Given the description of an element on the screen output the (x, y) to click on. 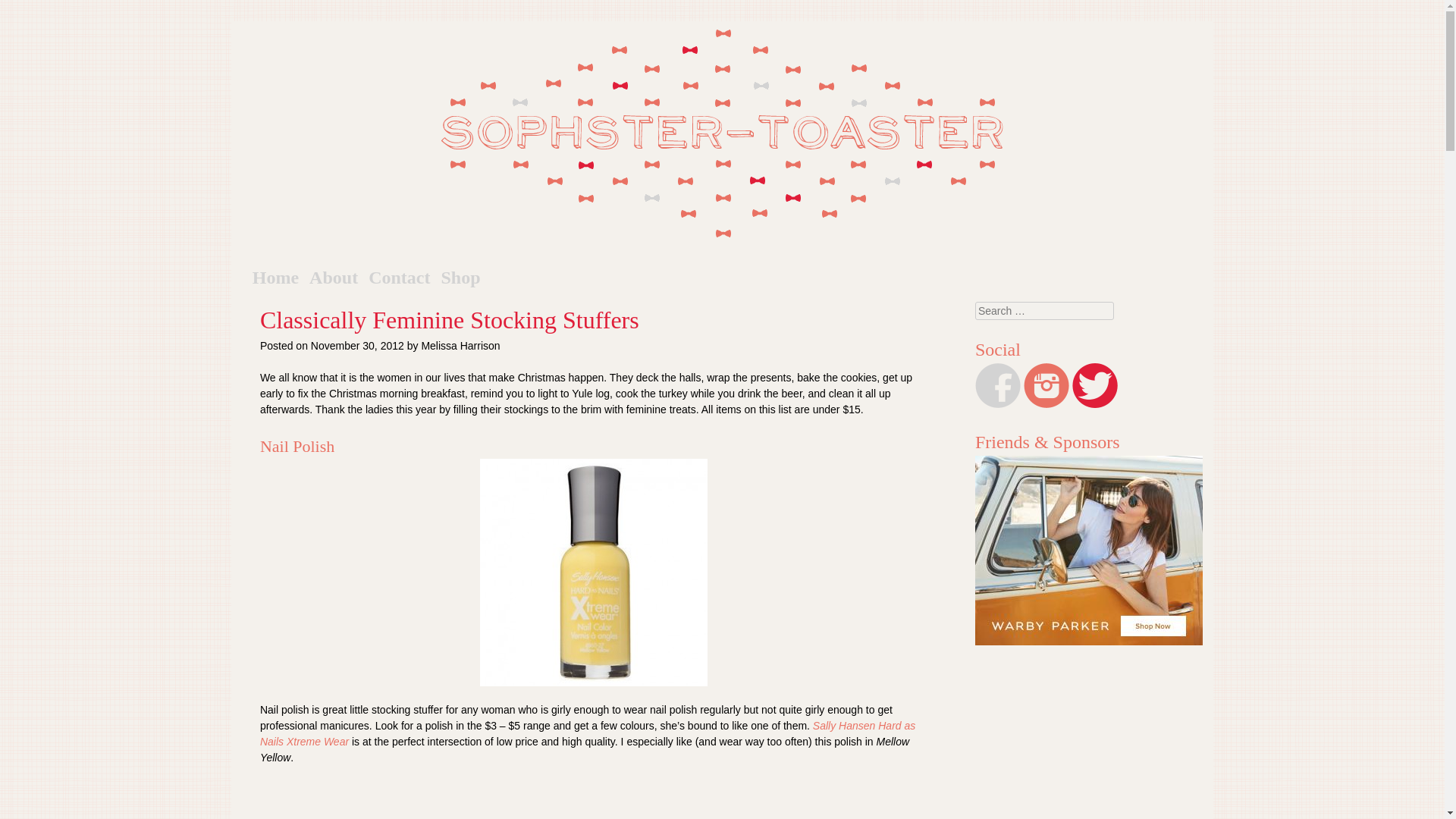
Melissa Harrison (459, 345)
About (333, 277)
Contact (398, 277)
Nail Polish (593, 572)
Sally Hansen Hard as Nails Xtreme Wear (587, 733)
Shop (460, 277)
Home (274, 277)
November 30, 2012 (357, 345)
Skip to content (310, 277)
